Given the description of an element on the screen output the (x, y) to click on. 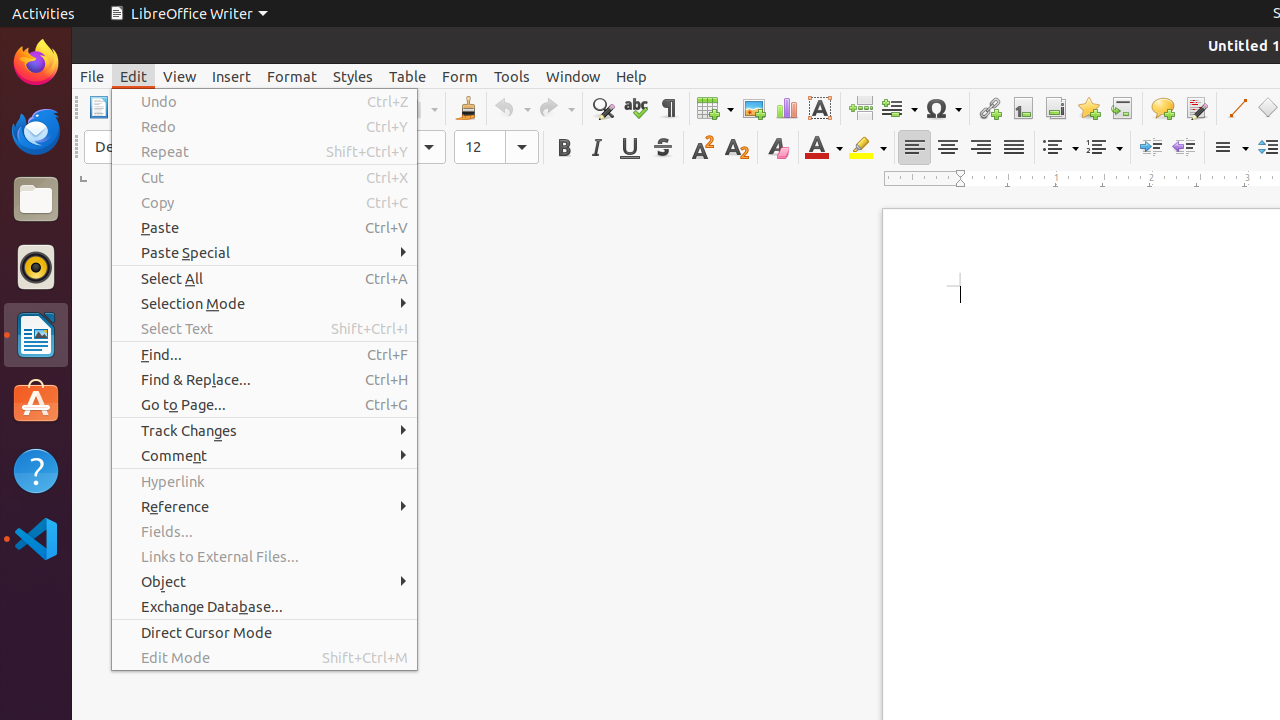
Field Element type: push-button (899, 108)
Table Element type: push-button (715, 108)
Redo Element type: menu-item (264, 126)
Left Element type: toggle-button (914, 147)
Hyperlink Element type: toggle-button (989, 108)
